Given the description of an element on the screen output the (x, y) to click on. 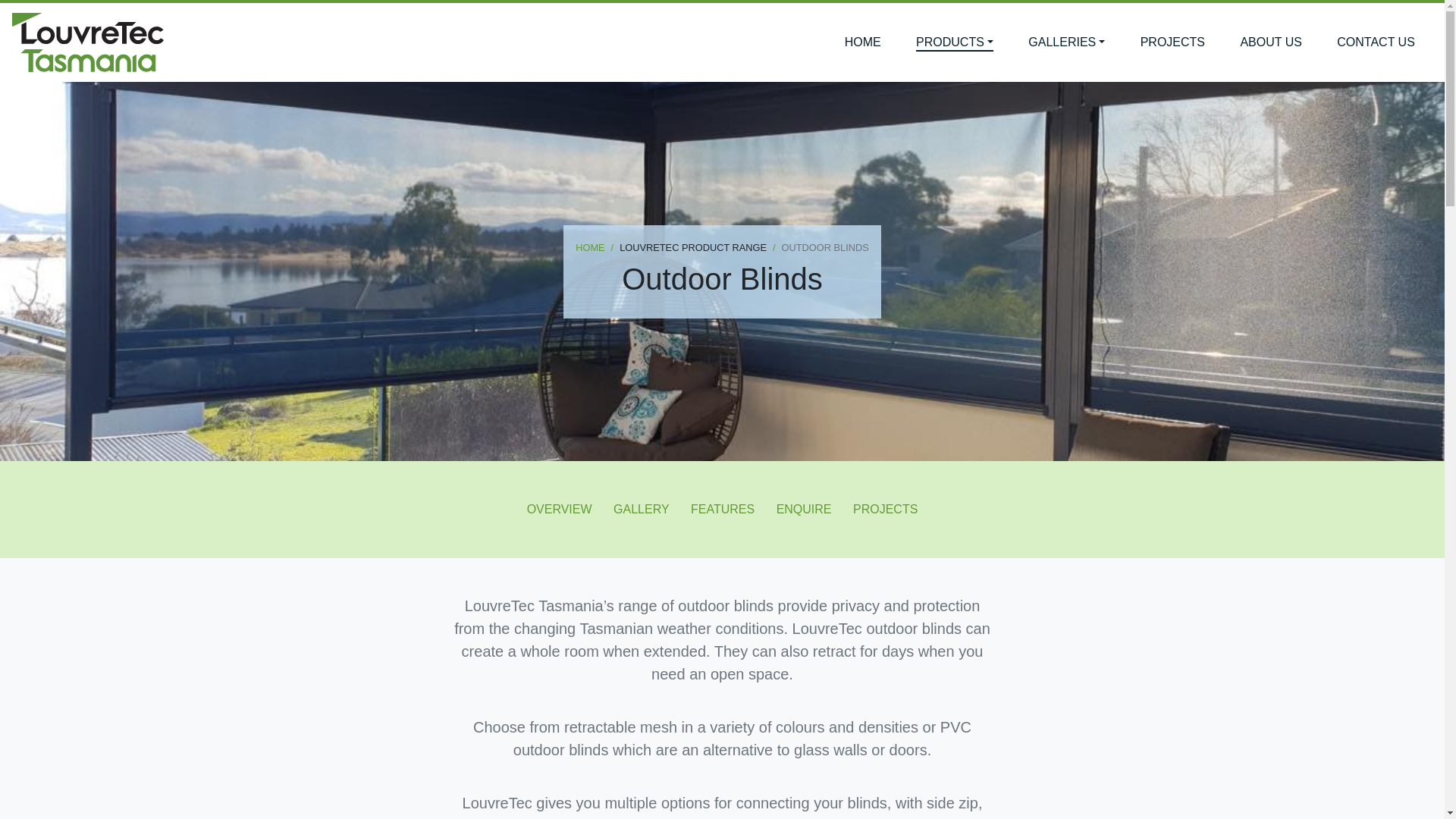
PROJECTS (1172, 42)
ENQUIRE (804, 509)
Products (954, 42)
OVERVIEW (559, 509)
FEATURES (722, 509)
HOME (862, 42)
LOUVRETEC PRODUCT RANGE (686, 247)
HOME (589, 247)
PROJECTS (885, 509)
CONTACT US (1375, 42)
GALLERY (641, 509)
Home (862, 42)
GALLERIES (1066, 42)
ABOUT US (1270, 42)
